Given the description of an element on the screen output the (x, y) to click on. 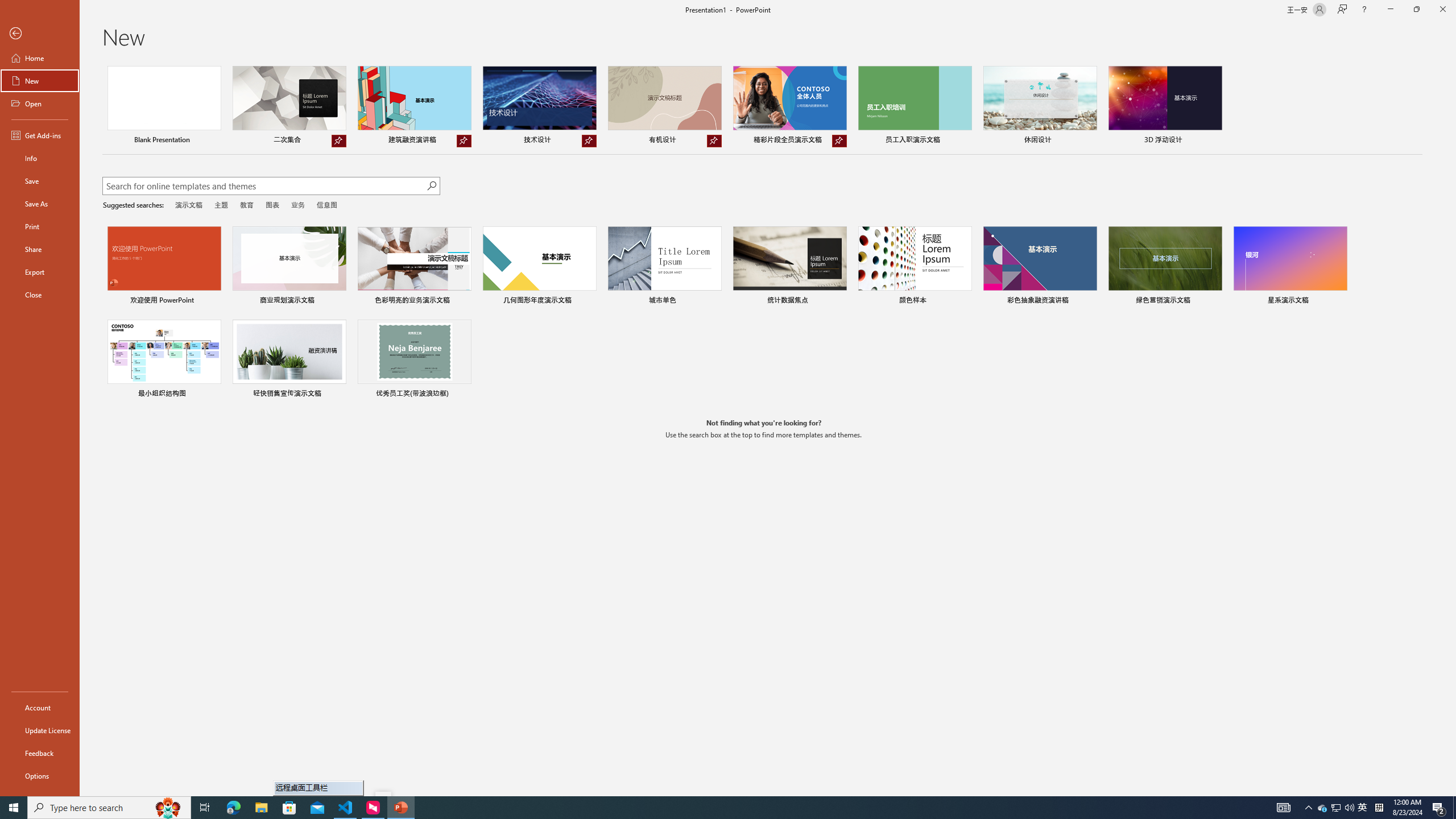
Feedback (40, 753)
Update License (40, 730)
Export (40, 271)
Back (40, 33)
Blank Presentation (164, 106)
Get Add-ins (40, 134)
Pin to list (464, 394)
